Given the description of an element on the screen output the (x, y) to click on. 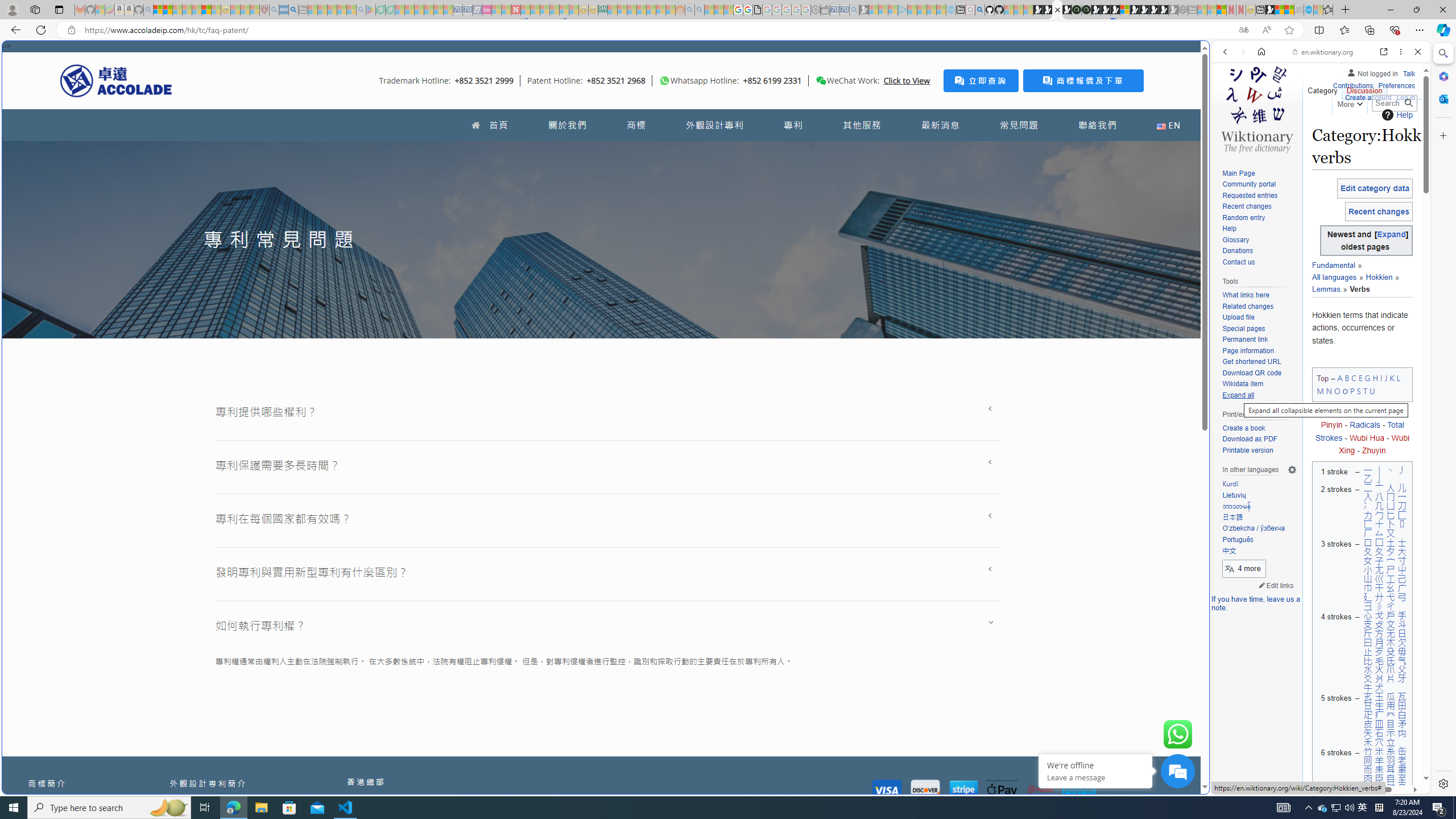
4 more (1243, 568)
Get shortened URL (1259, 361)
Contact us (1259, 262)
I (1381, 378)
